Given the description of an element on the screen output the (x, y) to click on. 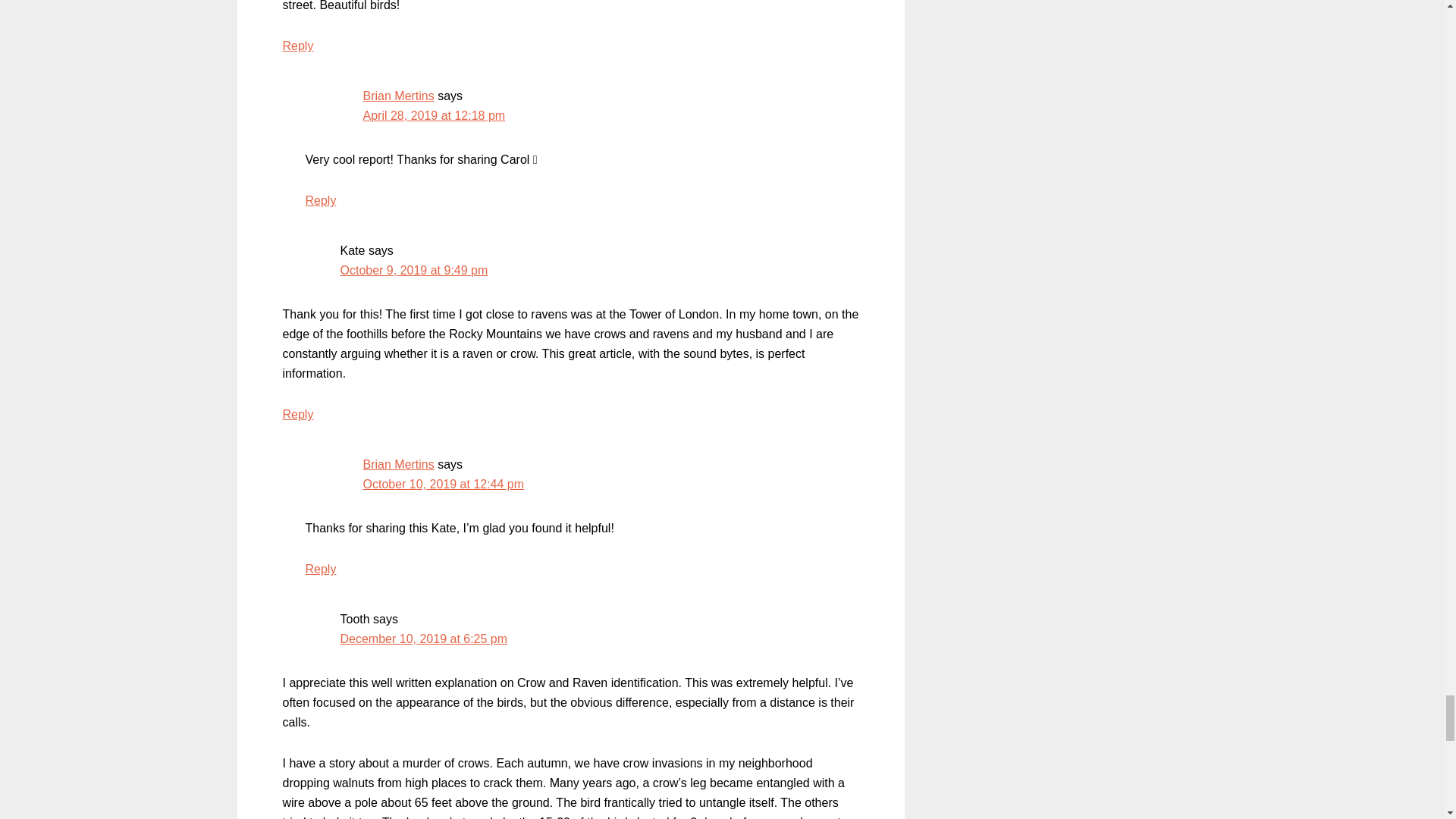
December 10, 2019 at 6:25 pm (422, 638)
Reply (320, 200)
Brian Mertins (397, 463)
October 10, 2019 at 12:44 pm (443, 483)
Brian Mertins (397, 95)
October 9, 2019 at 9:49 pm (413, 269)
Reply (320, 568)
Reply (297, 45)
April 28, 2019 at 12:18 pm (433, 115)
Reply (297, 413)
